Given the description of an element on the screen output the (x, y) to click on. 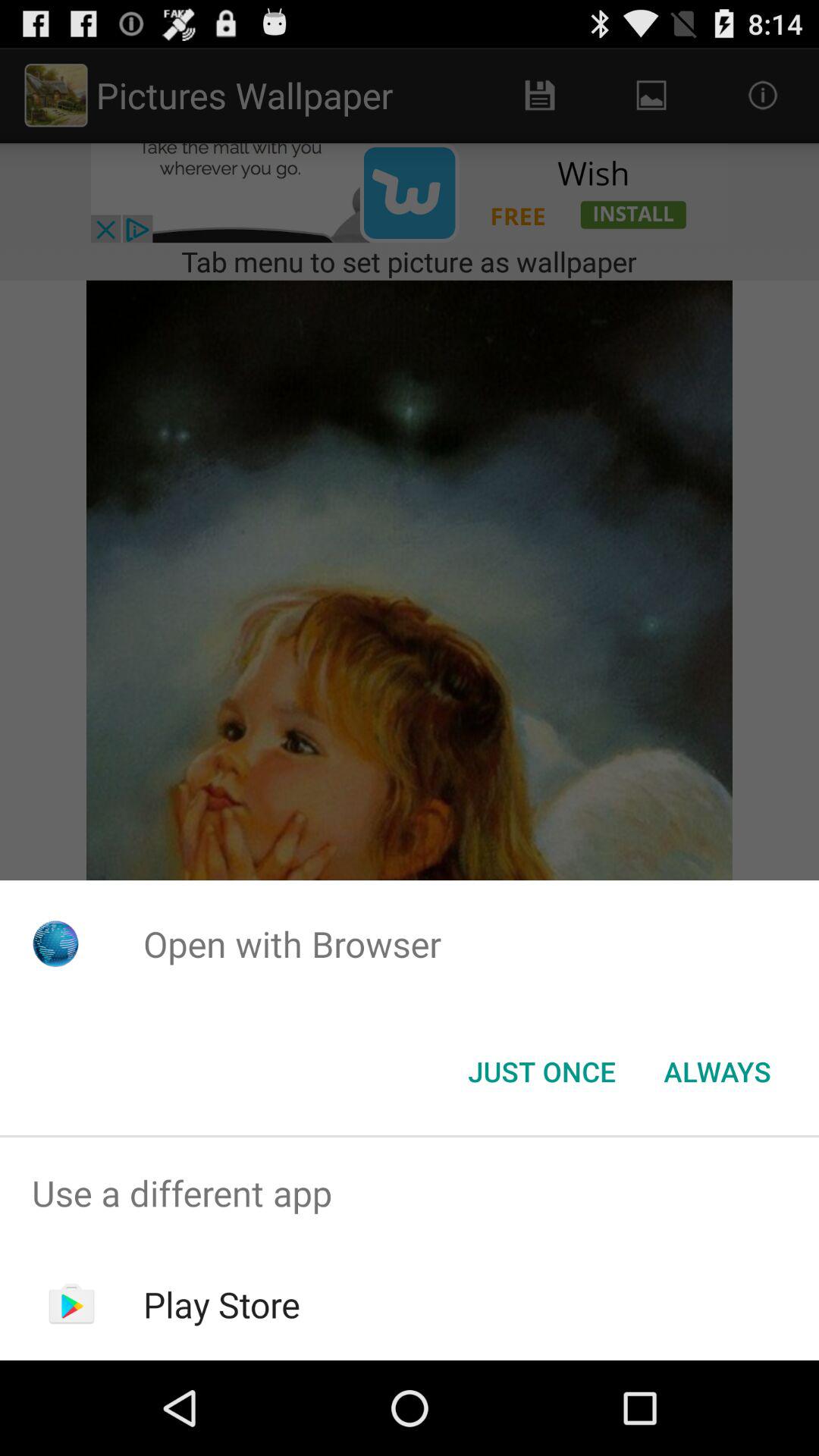
choose just once icon (541, 1071)
